Given the description of an element on the screen output the (x, y) to click on. 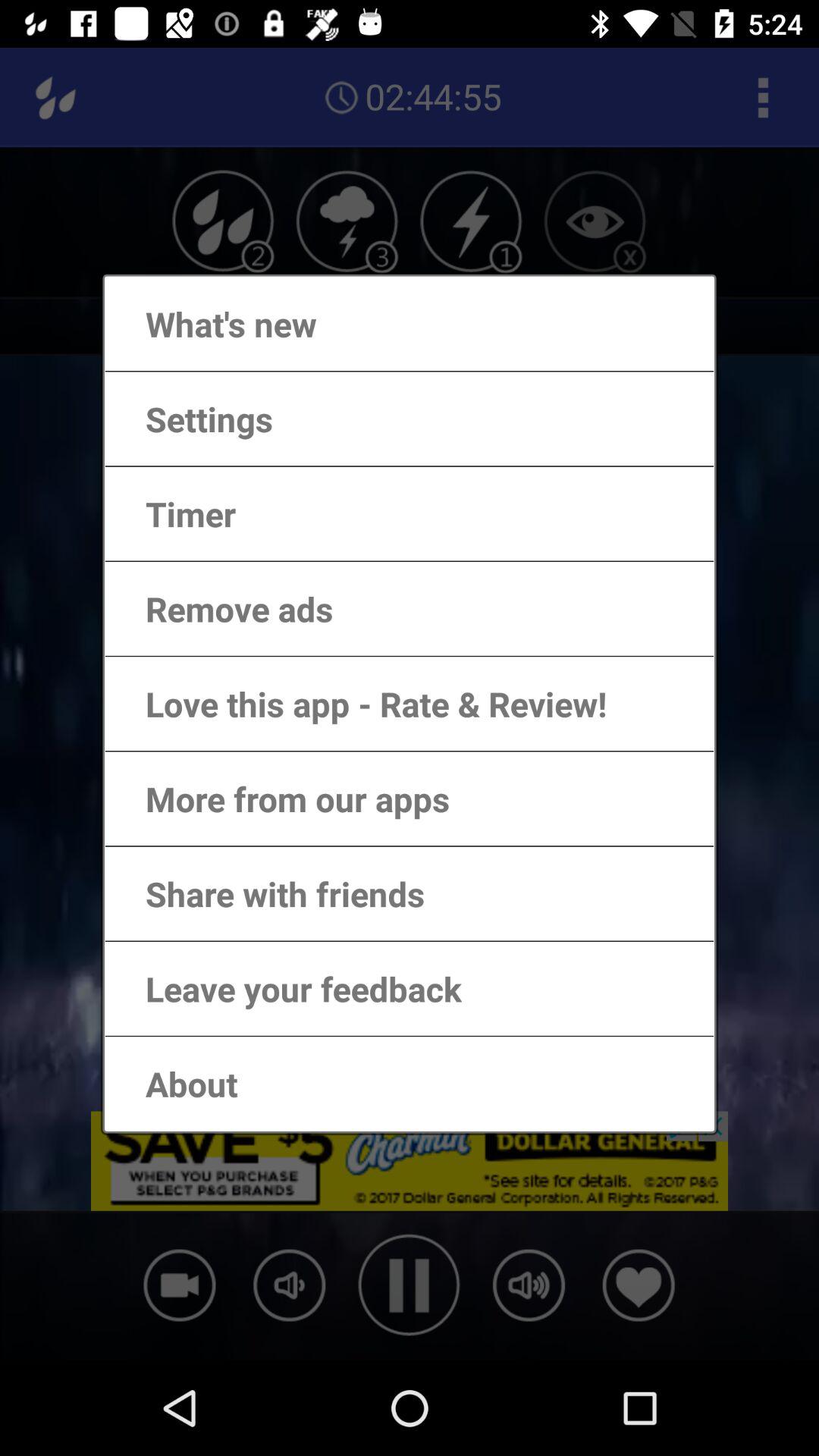
click item above the about (288, 988)
